Given the description of an element on the screen output the (x, y) to click on. 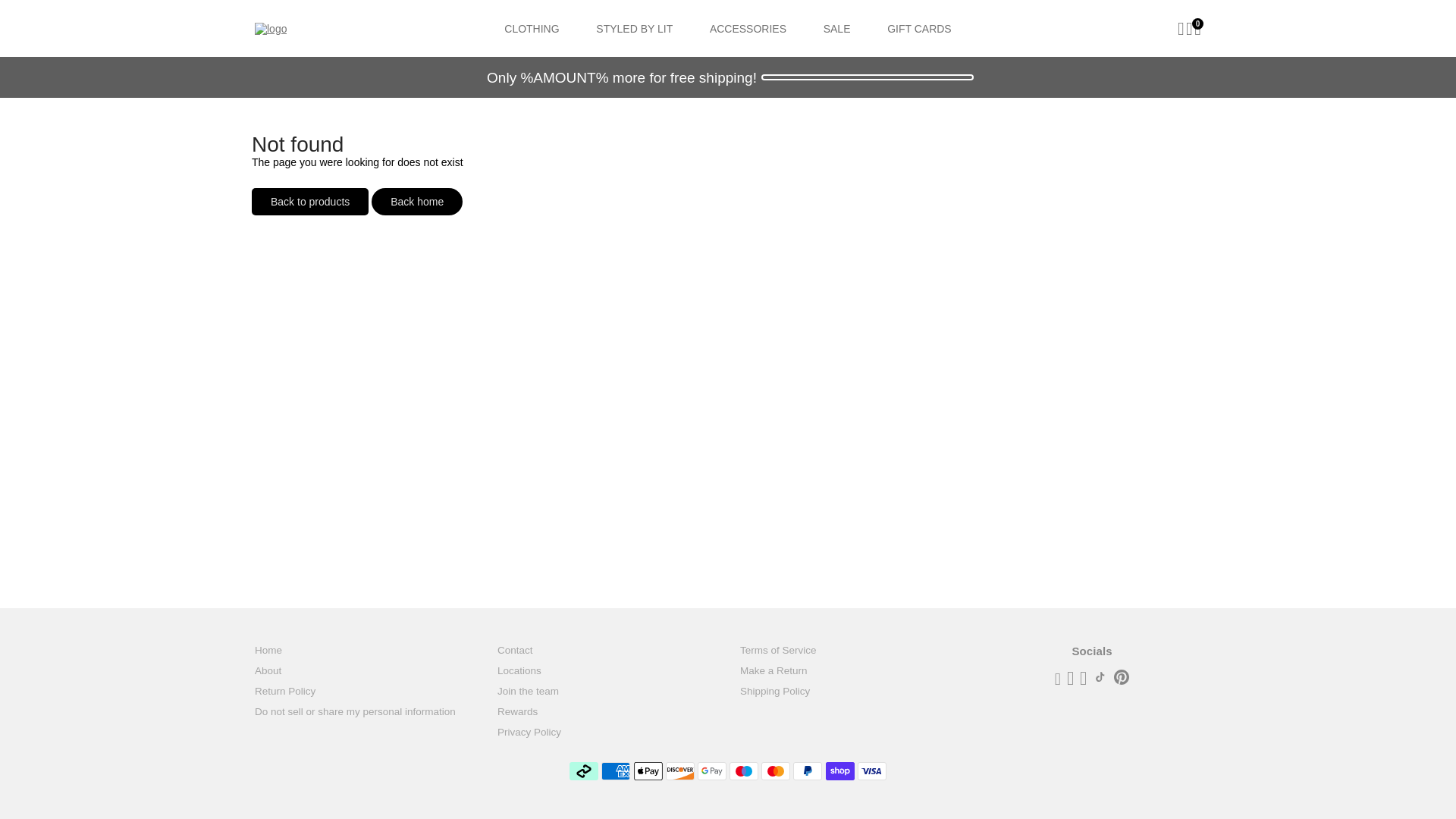
PayPal (807, 771)
Visa (871, 771)
Mastercard (775, 771)
American Express (615, 771)
ACCESSORIES (748, 28)
Afterpay (583, 771)
Maestro (743, 771)
STYLED BY LIT (633, 28)
CLOTHING (531, 28)
Apple Pay (647, 771)
